Given the description of an element on the screen output the (x, y) to click on. 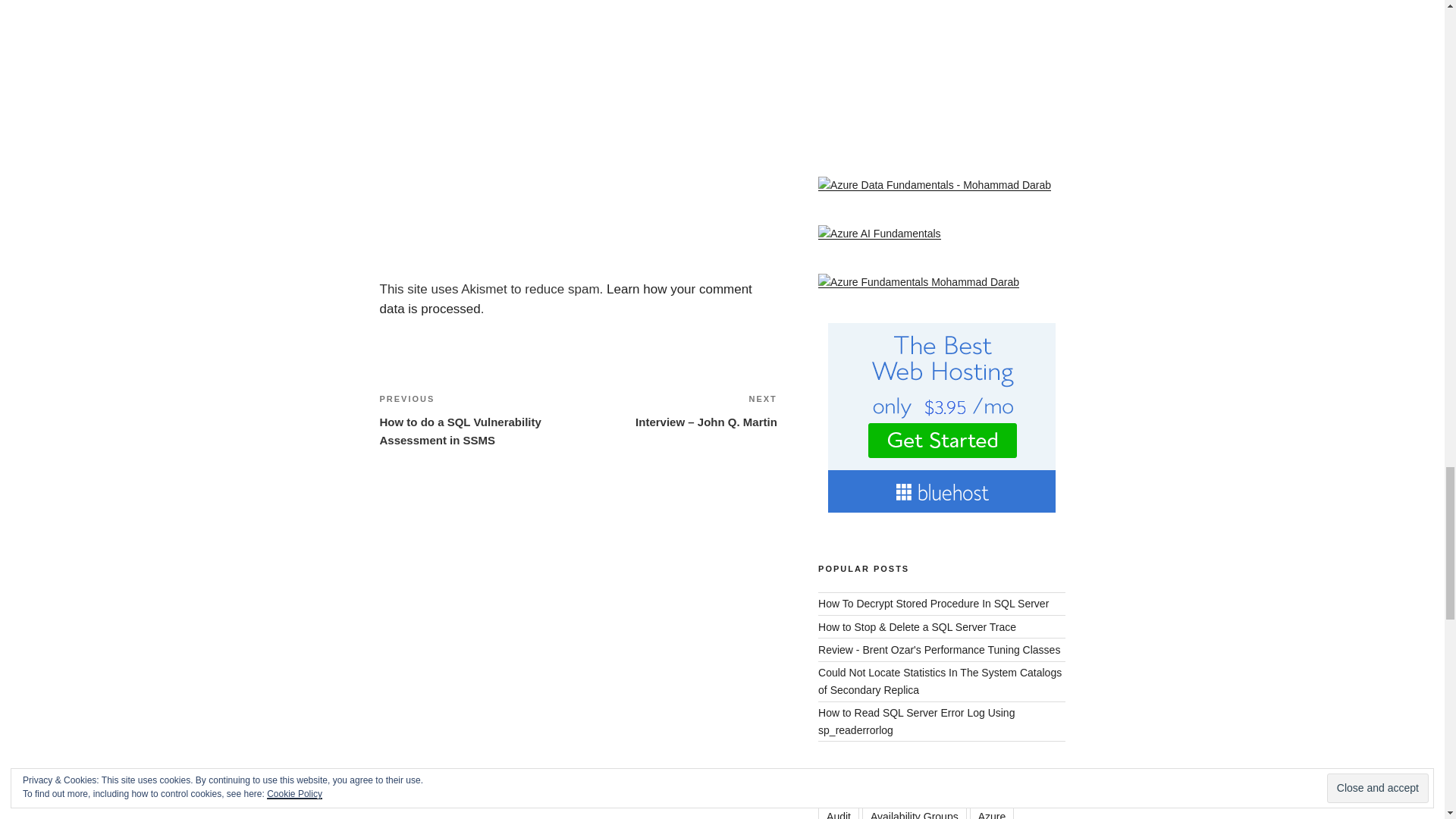
Learn how your comment data is processed (564, 298)
Comment Form (577, 128)
